Given the description of an element on the screen output the (x, y) to click on. 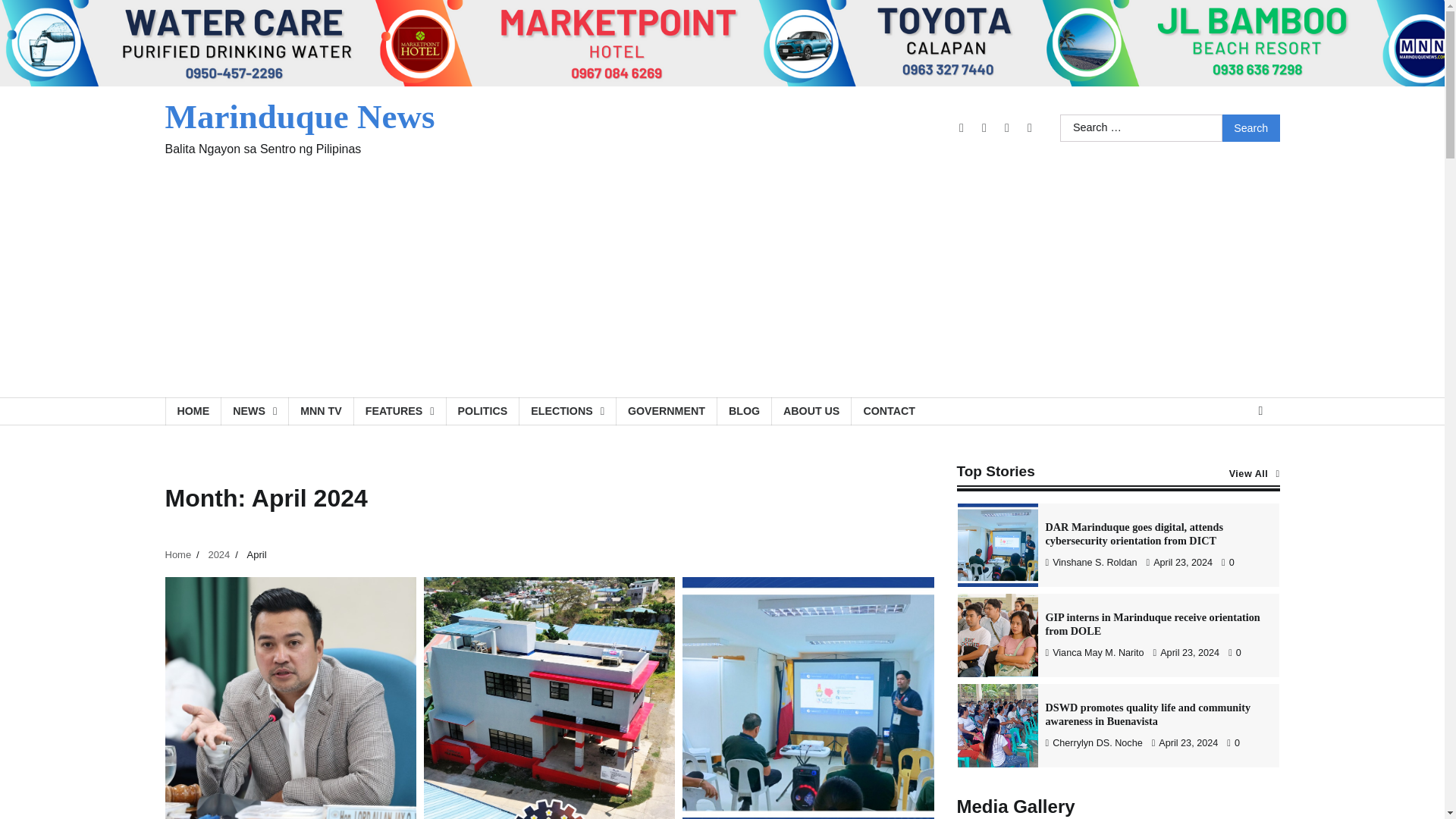
facebook (961, 127)
Search (1251, 127)
GOVERNMENT (665, 411)
BLOG (743, 411)
Search (1251, 127)
ELECTIONS (566, 411)
instagram (983, 127)
HOME (193, 411)
MNN TV (320, 411)
Marinduque News (300, 116)
2024 (219, 554)
FEATURES (399, 411)
NEWS (254, 411)
View Random Post (1260, 410)
Search (1251, 127)
